Given the description of an element on the screen output the (x, y) to click on. 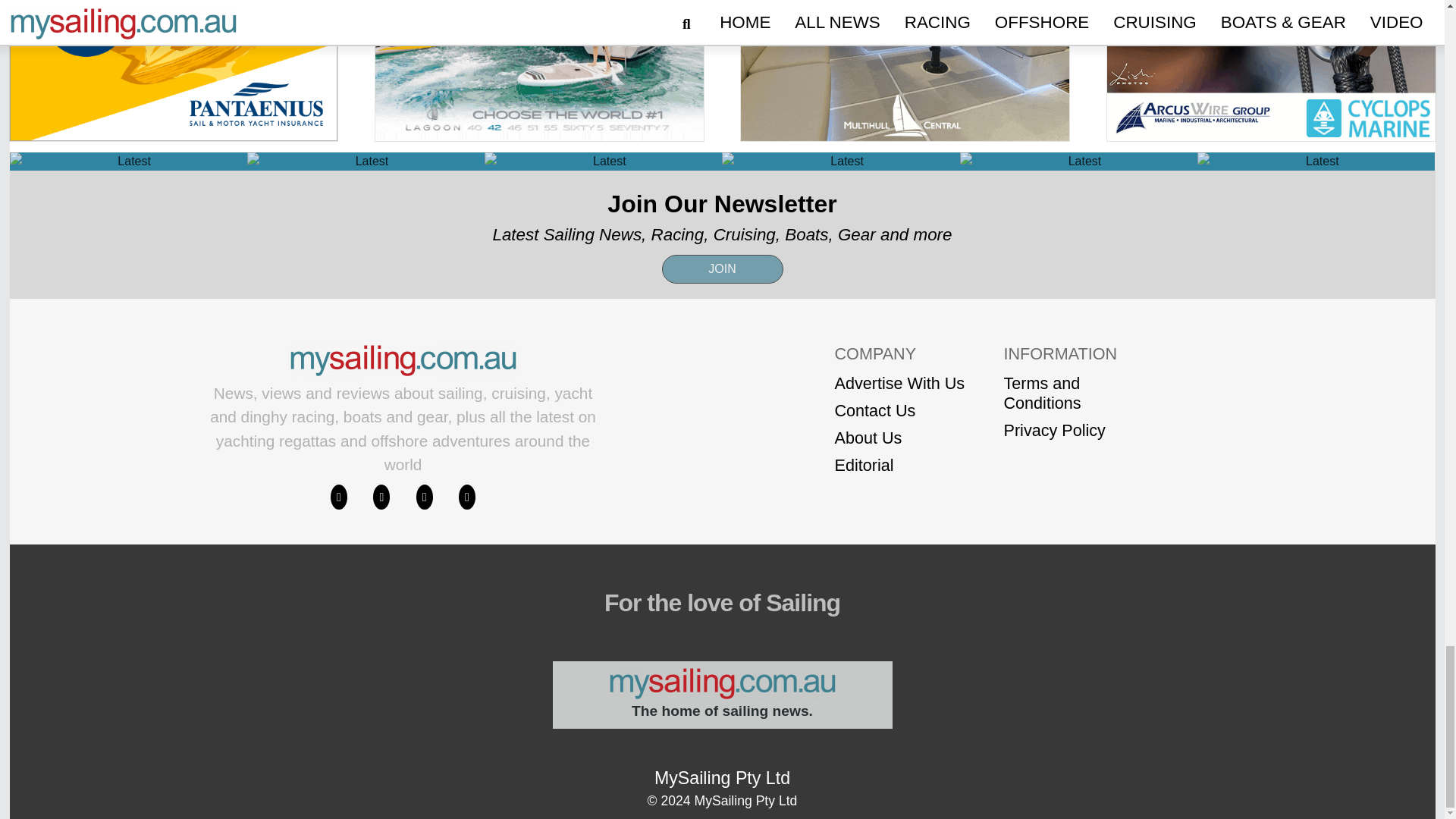
About Us (899, 437)
Advertise With Us (899, 383)
Contact Us (899, 410)
Editorial (899, 465)
